Given the description of an element on the screen output the (x, y) to click on. 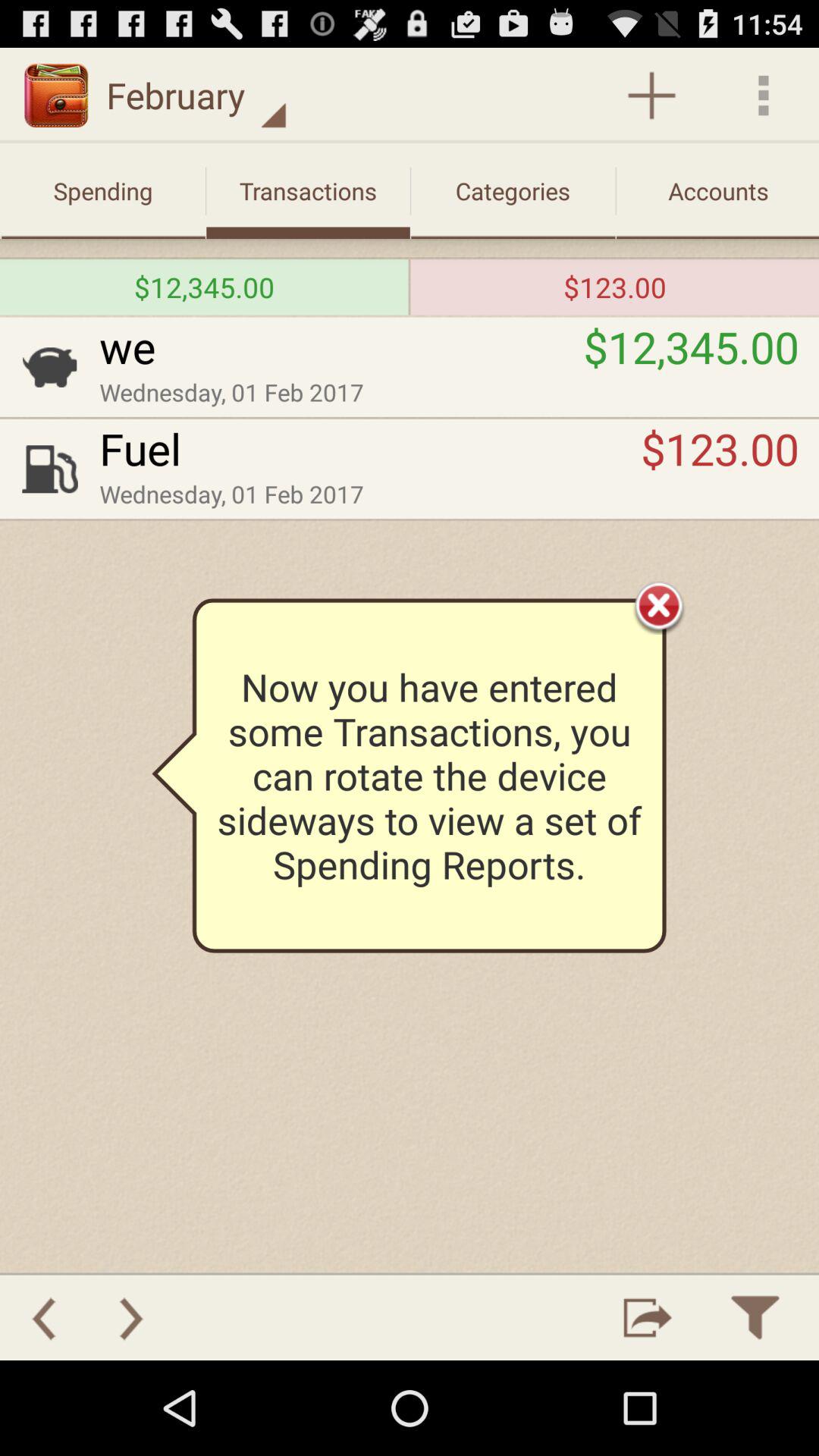
click the icon on the right (659, 605)
